Given the description of an element on the screen output the (x, y) to click on. 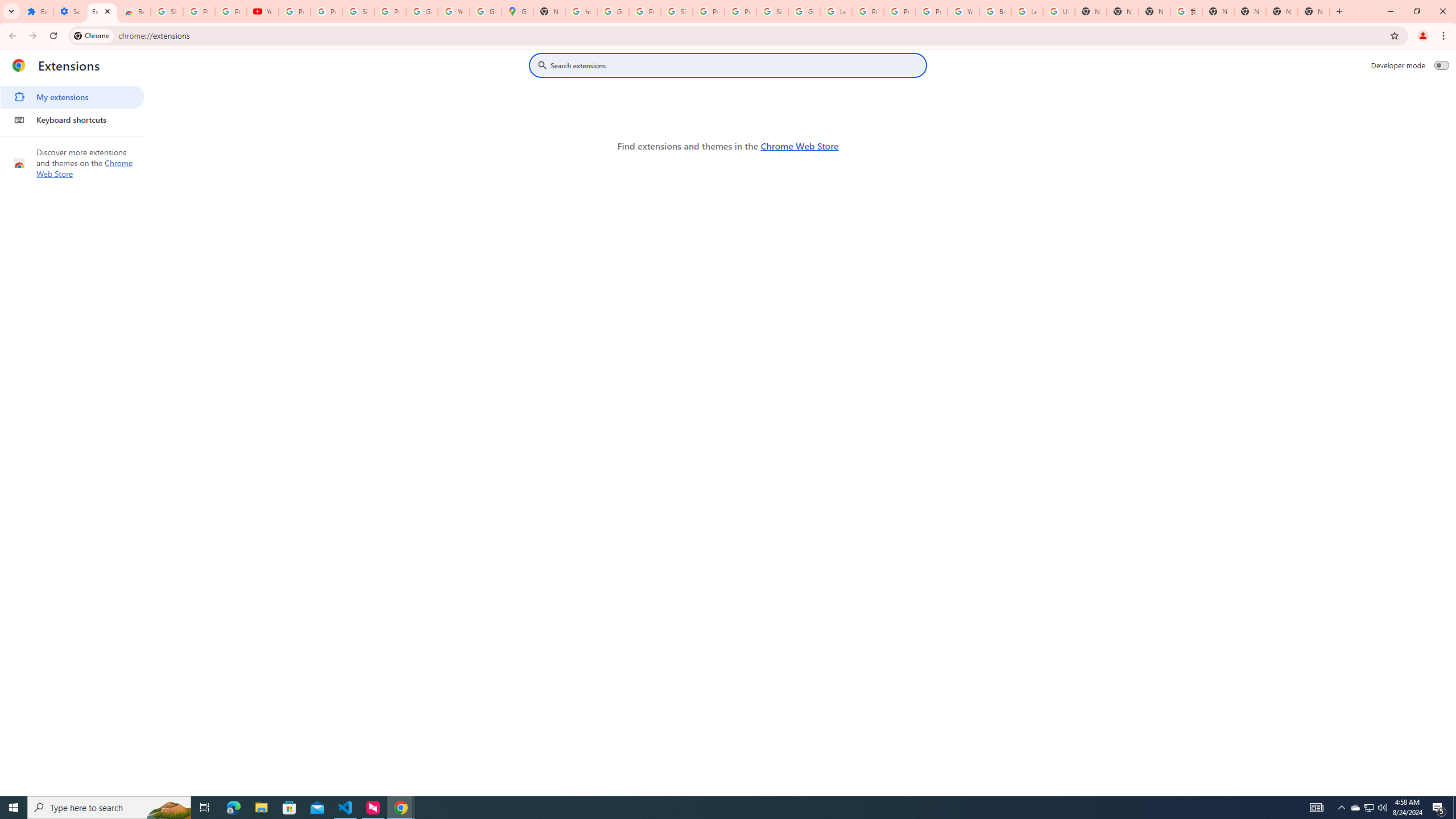
Extensions (37, 11)
New Tab (1313, 11)
